Given the description of an element on the screen output the (x, y) to click on. 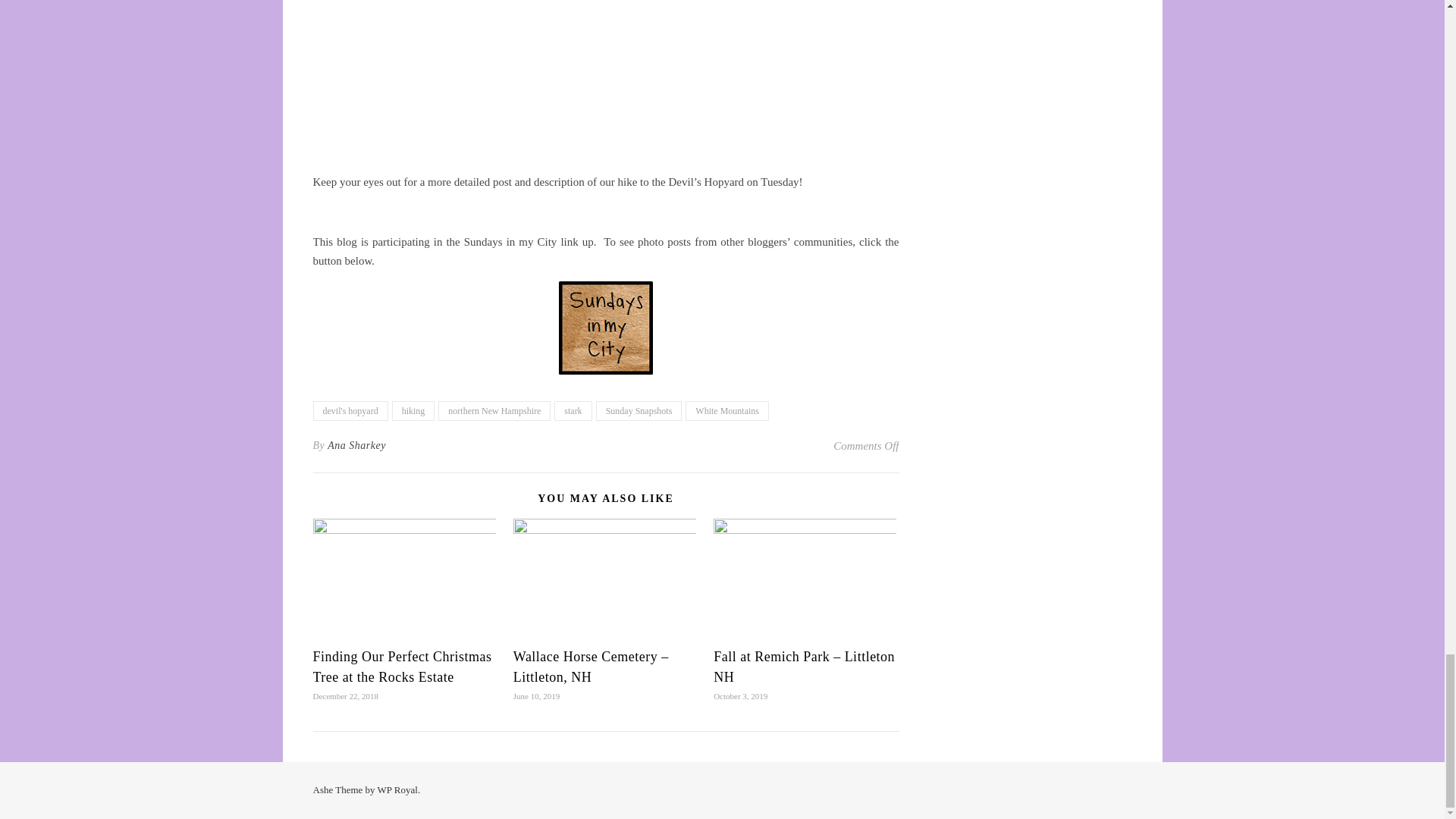
White Mountains (726, 410)
hiking (413, 410)
northern New Hampshire (494, 410)
devil's hopyard (350, 410)
Finding Our Perfect Christmas Tree at the Rocks Estate (402, 666)
Sunday Snapshots (638, 410)
Ana Sharkey (356, 445)
Posts by Ana Sharkey (356, 445)
stark (572, 410)
